Given the description of an element on the screen output the (x, y) to click on. 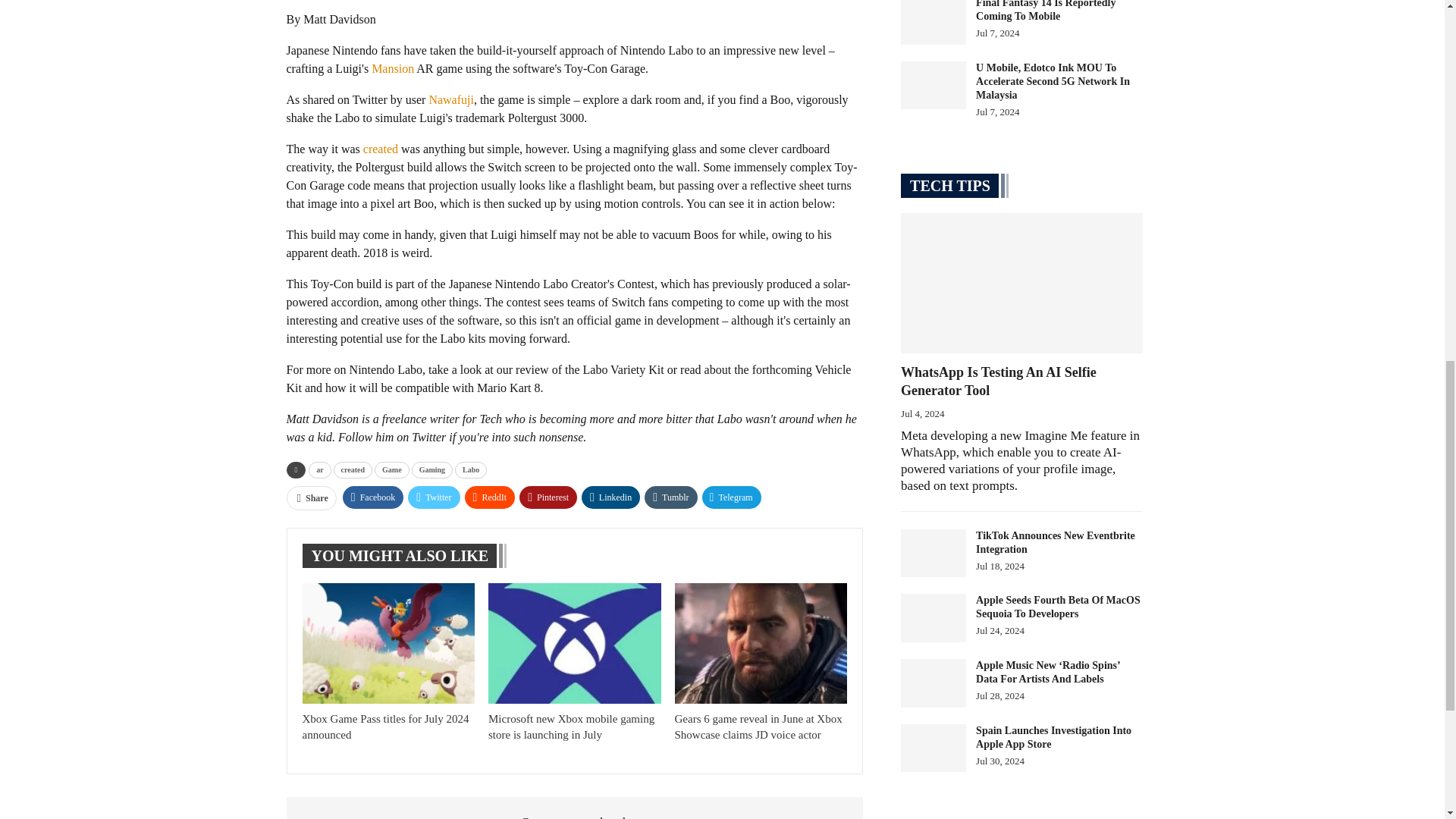
ReddIt (489, 497)
Microsoft new Xbox mobile gaming store is launching in July (570, 726)
Game (391, 469)
ar (319, 469)
Facebook (373, 497)
Pinterest (547, 497)
Xbox Game Pass titles for July 2024 announced (384, 726)
Microsoft new Xbox mobile gaming store is launching in July (574, 643)
created (352, 469)
Twitter (433, 497)
Labo (470, 469)
created (379, 148)
Xbox Game Pass titles for July 2024 announced (387, 643)
